Given the description of an element on the screen output the (x, y) to click on. 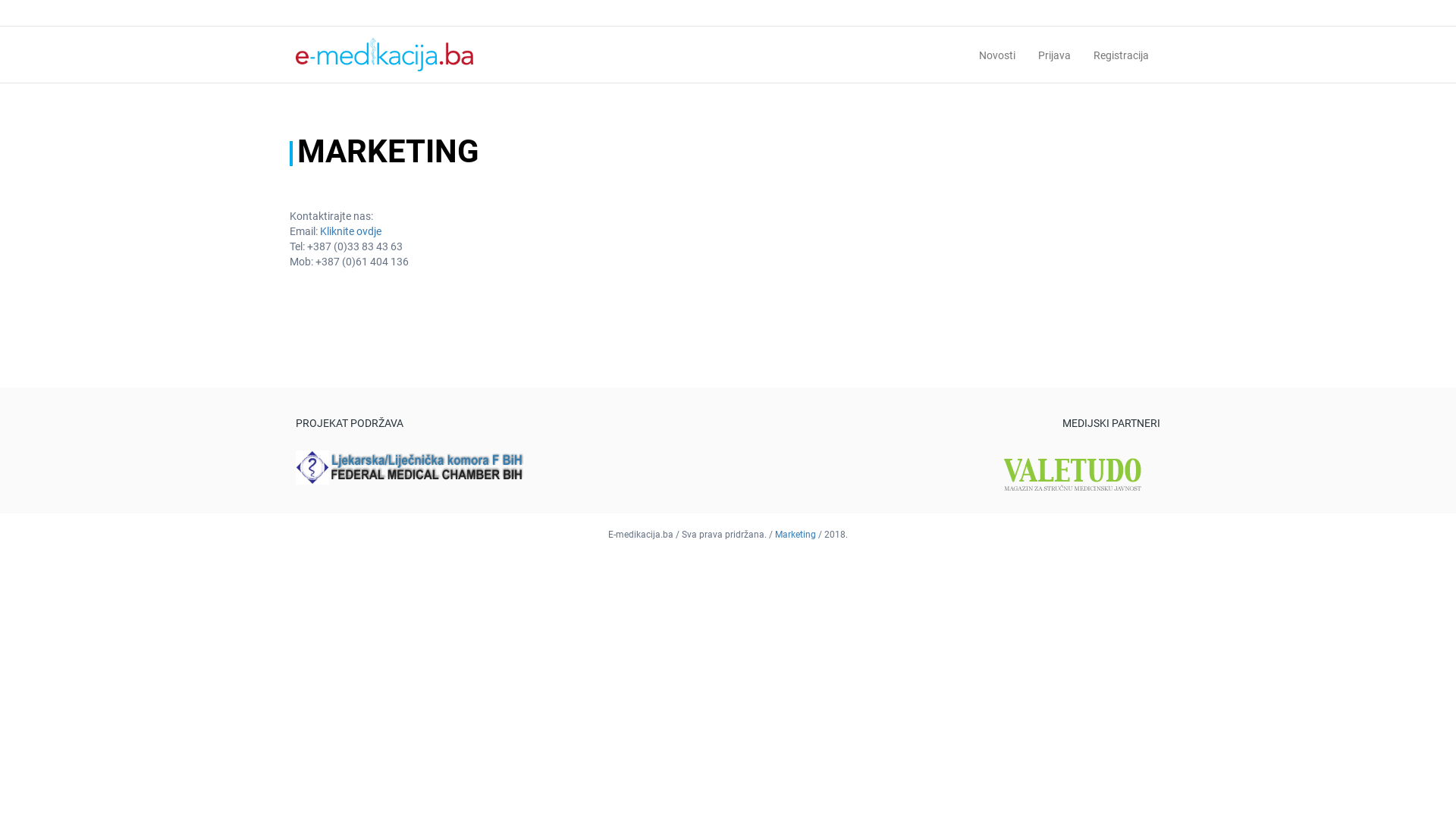
Novosti Element type: text (996, 55)
Prijava Element type: text (1054, 55)
Registracija Element type: text (1121, 55)
Kliknite ovdje Element type: text (350, 231)
Marketing Element type: text (795, 534)
